Given the description of an element on the screen output the (x, y) to click on. 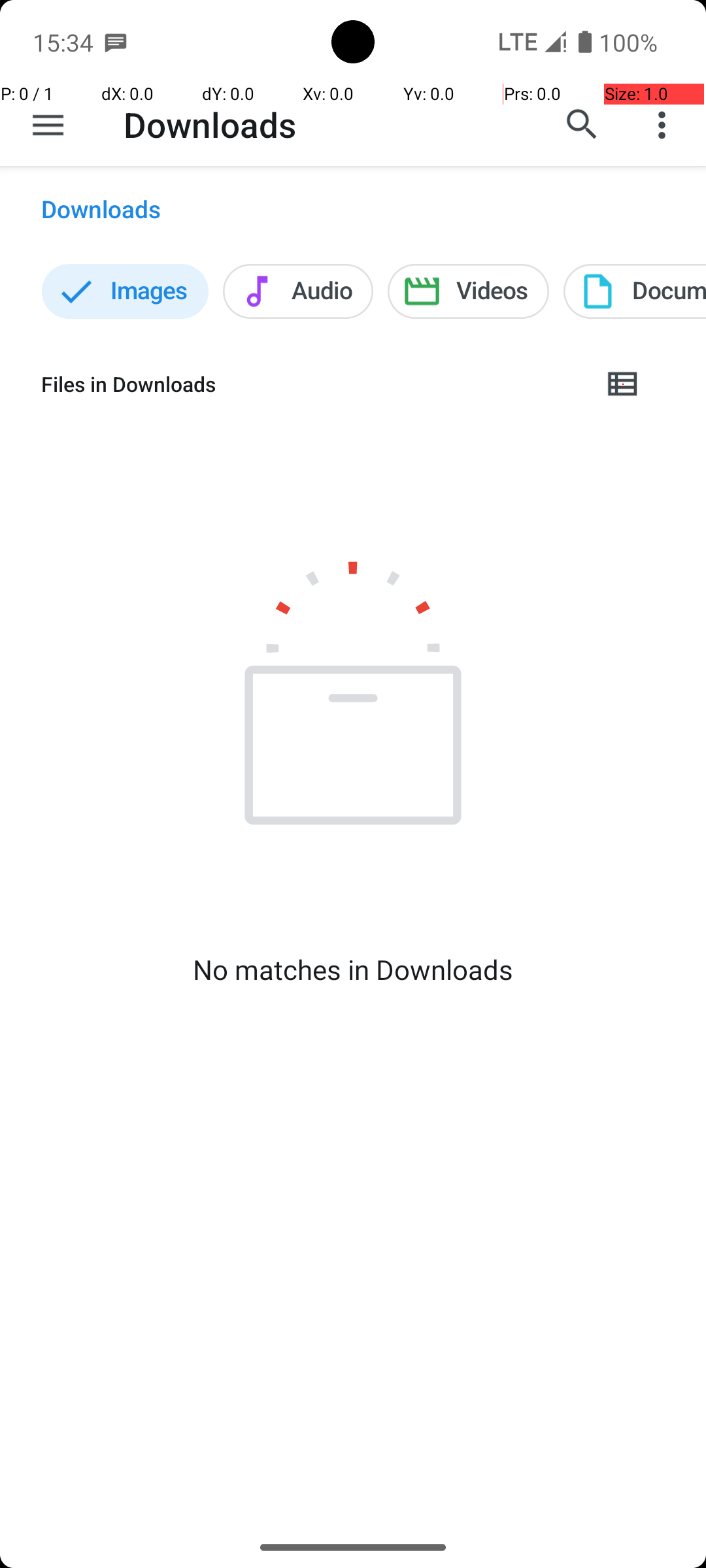
SMS Messenger notification: +15505050843 Element type: android.widget.ImageView (115, 41)
